Given the description of an element on the screen output the (x, y) to click on. 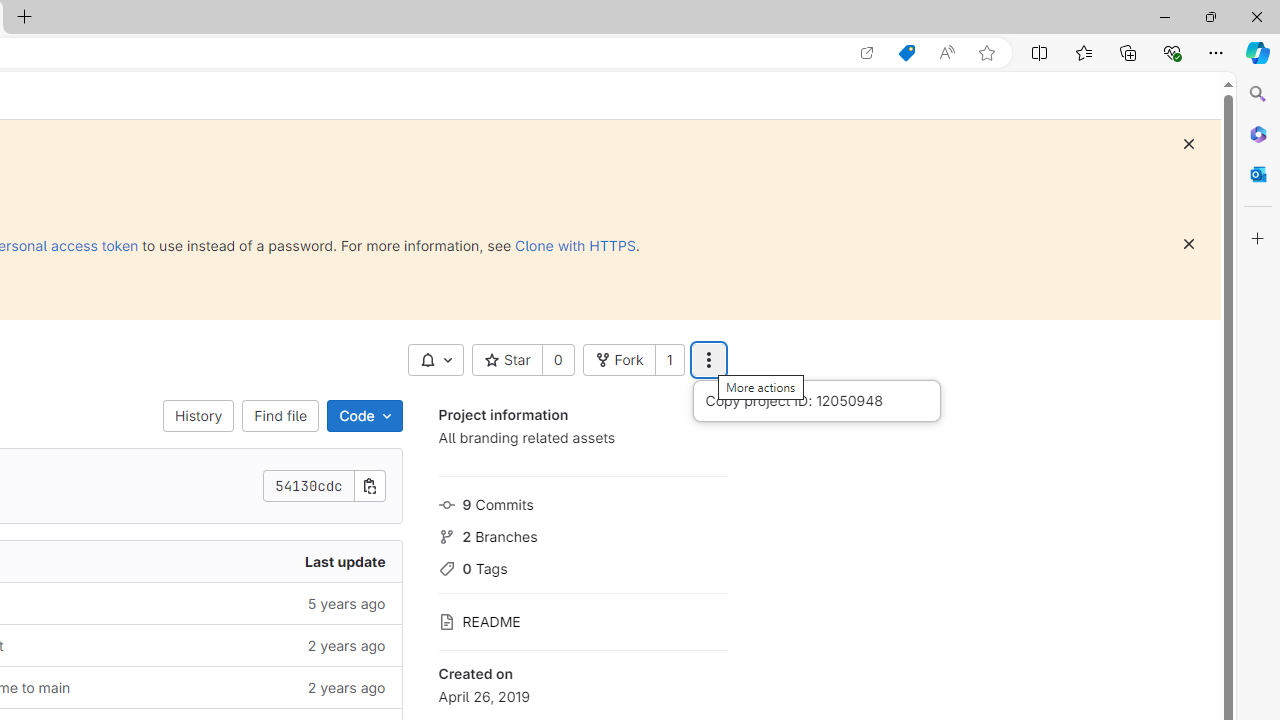
Fork (618, 359)
Copy project ID: 12050948 (815, 400)
0 Tags (582, 566)
Last update (247, 561)
Open in app (867, 53)
0 (557, 359)
